Given the description of an element on the screen output the (x, y) to click on. 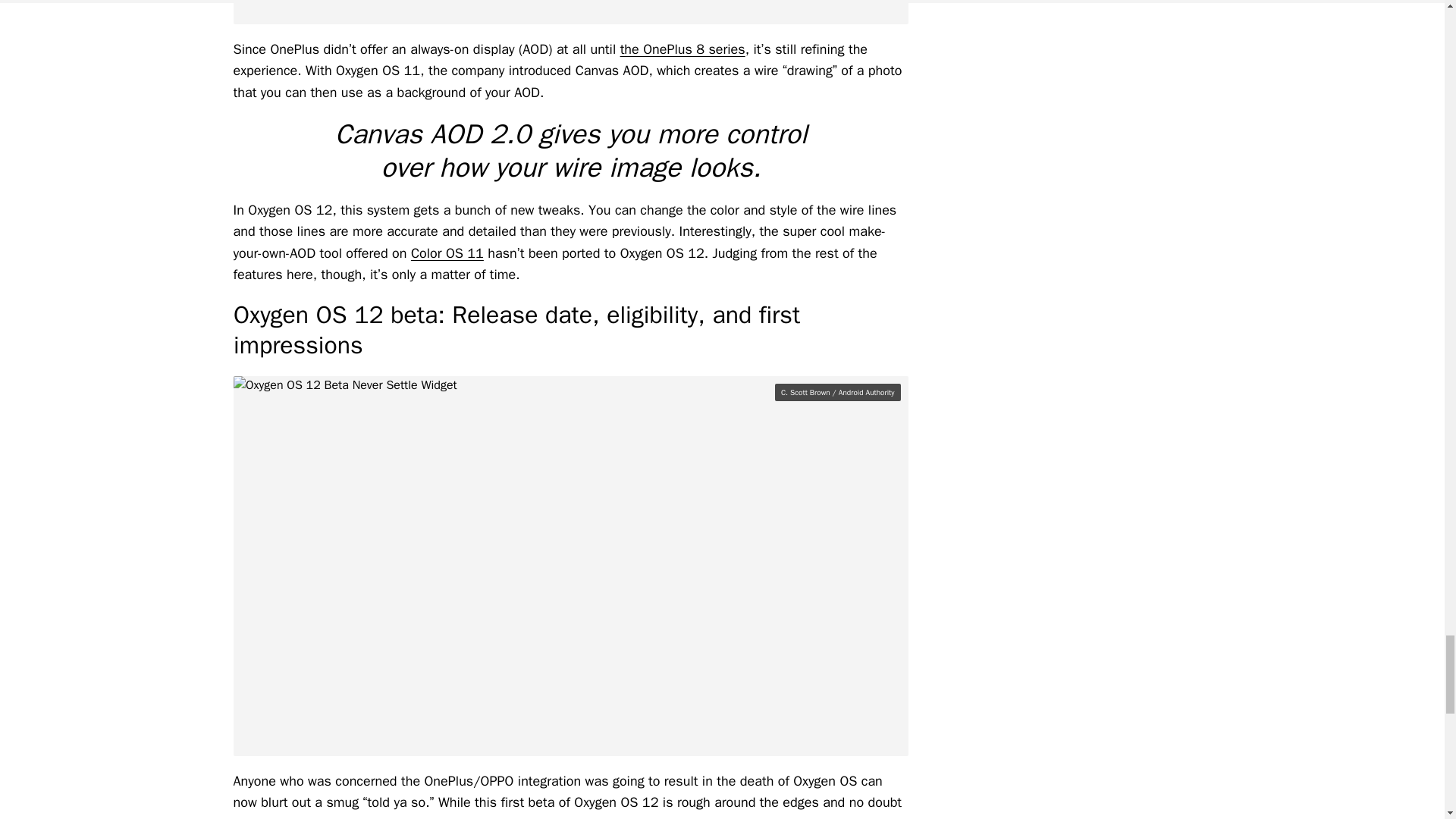
Color OS 11 (446, 252)
the OnePlus 8 series (682, 48)
Oxygen OS 12 Beta Canvas AOD Customization Personalization (570, 12)
